Given the description of an element on the screen output the (x, y) to click on. 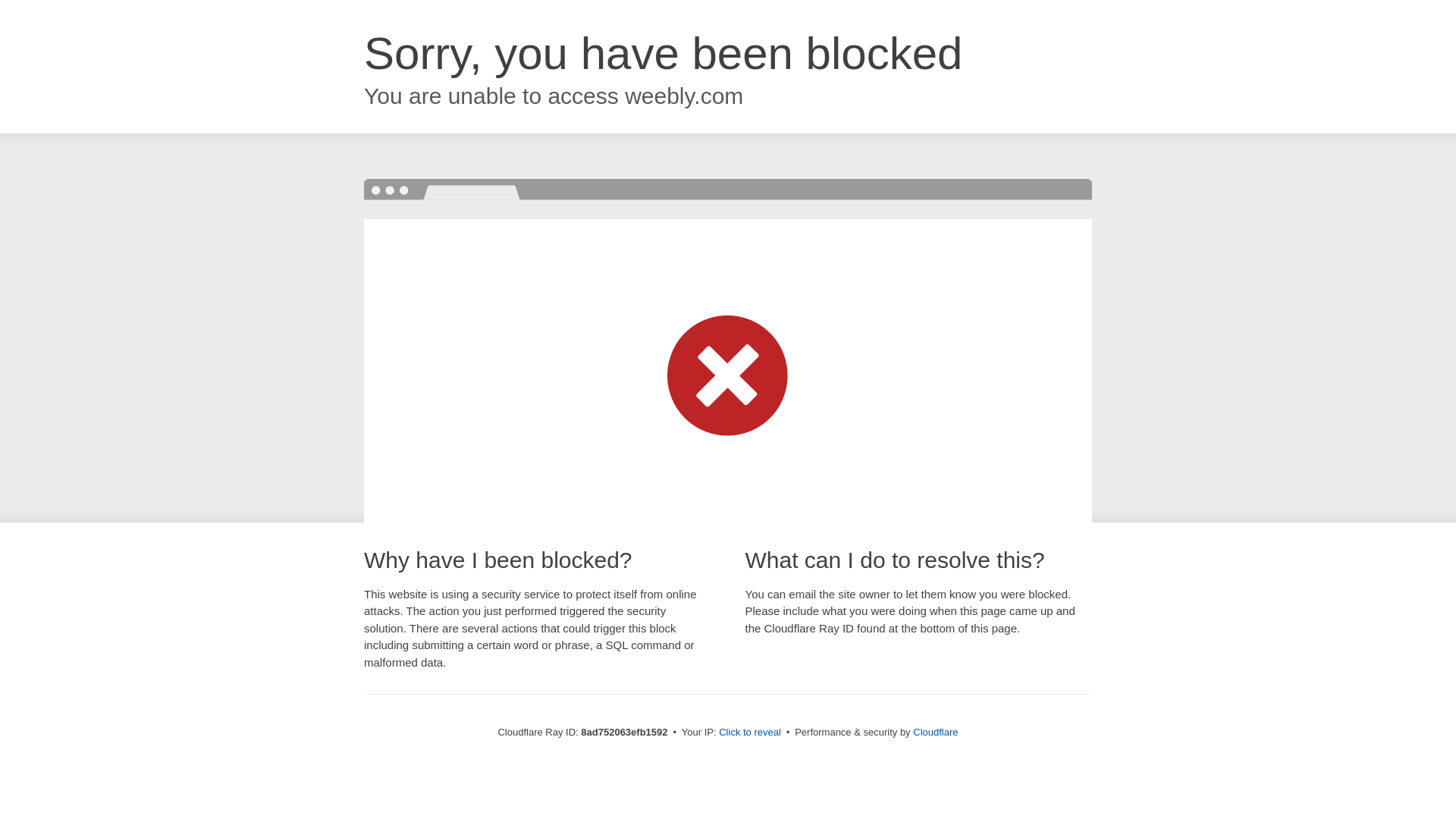
Click to reveal (749, 732)
Cloudflare (935, 731)
